Given the description of an element on the screen output the (x, y) to click on. 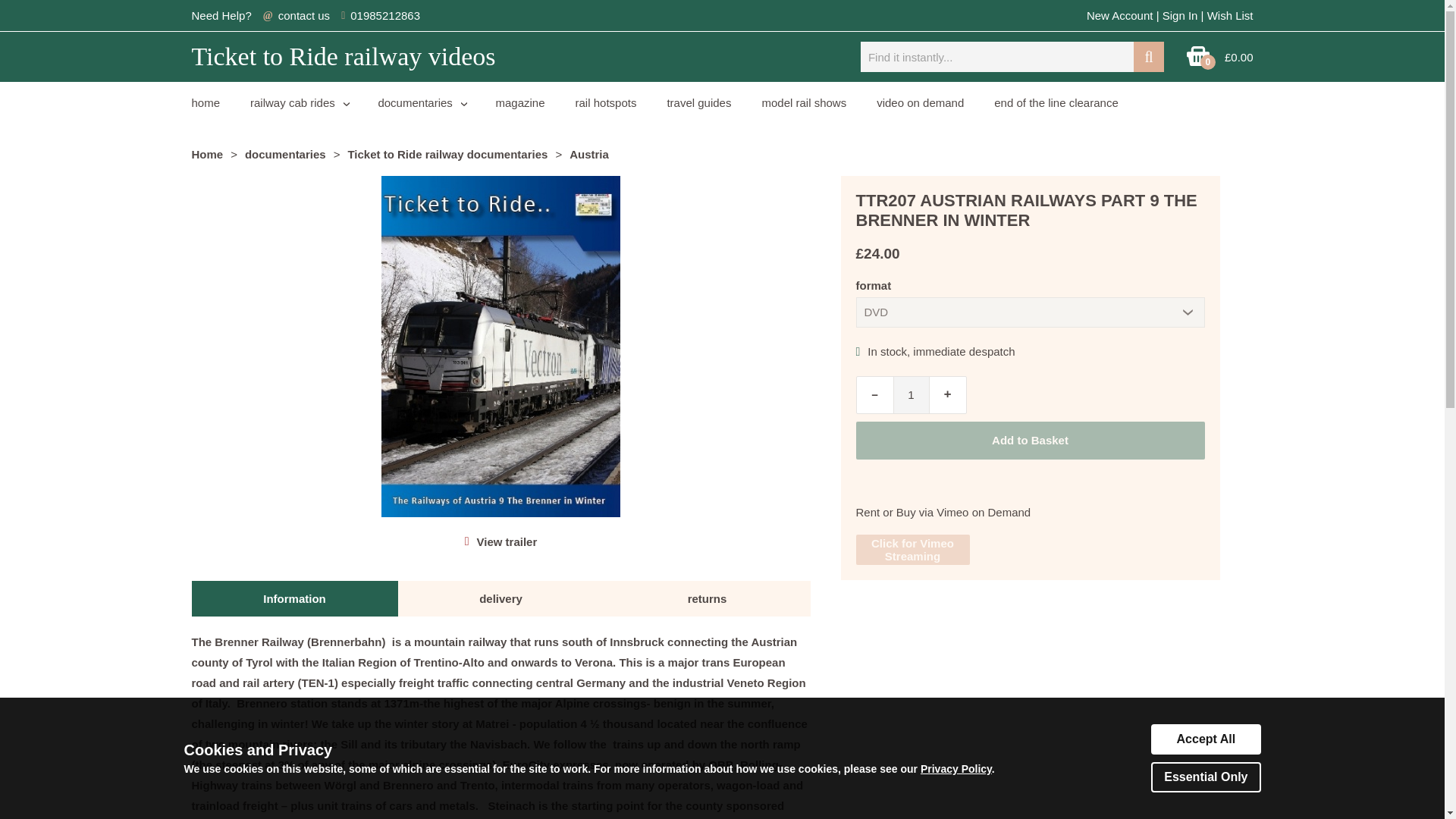
documentaries (421, 103)
Wish List (1230, 15)
TTR207 Austrian Railways part 9 The Brenner in winter (507, 541)
contact us (304, 15)
Buy railway videos - just trains rail traffic hotspots (606, 102)
01985212863 (385, 15)
New Account (1119, 15)
Buy railway videos - regional stories (421, 103)
Sign In (1179, 15)
